Given the description of an element on the screen output the (x, y) to click on. 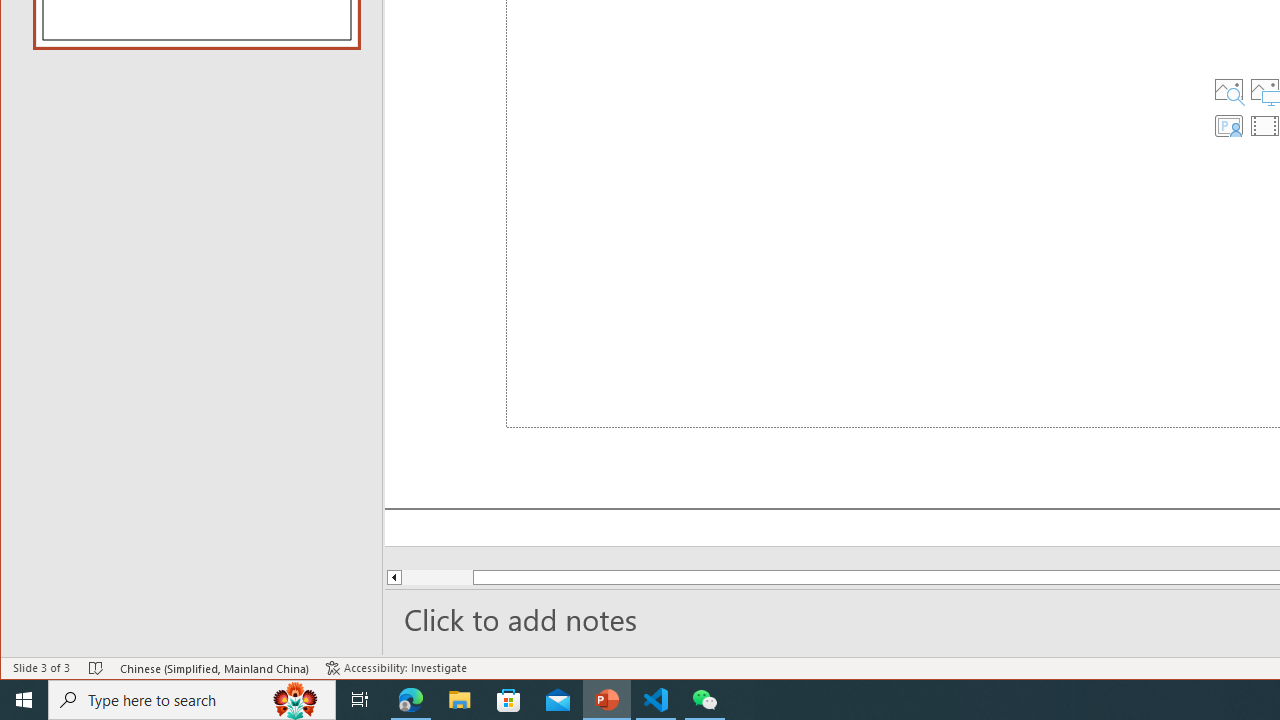
WeChat - 1 running window (704, 699)
